Given the description of an element on the screen output the (x, y) to click on. 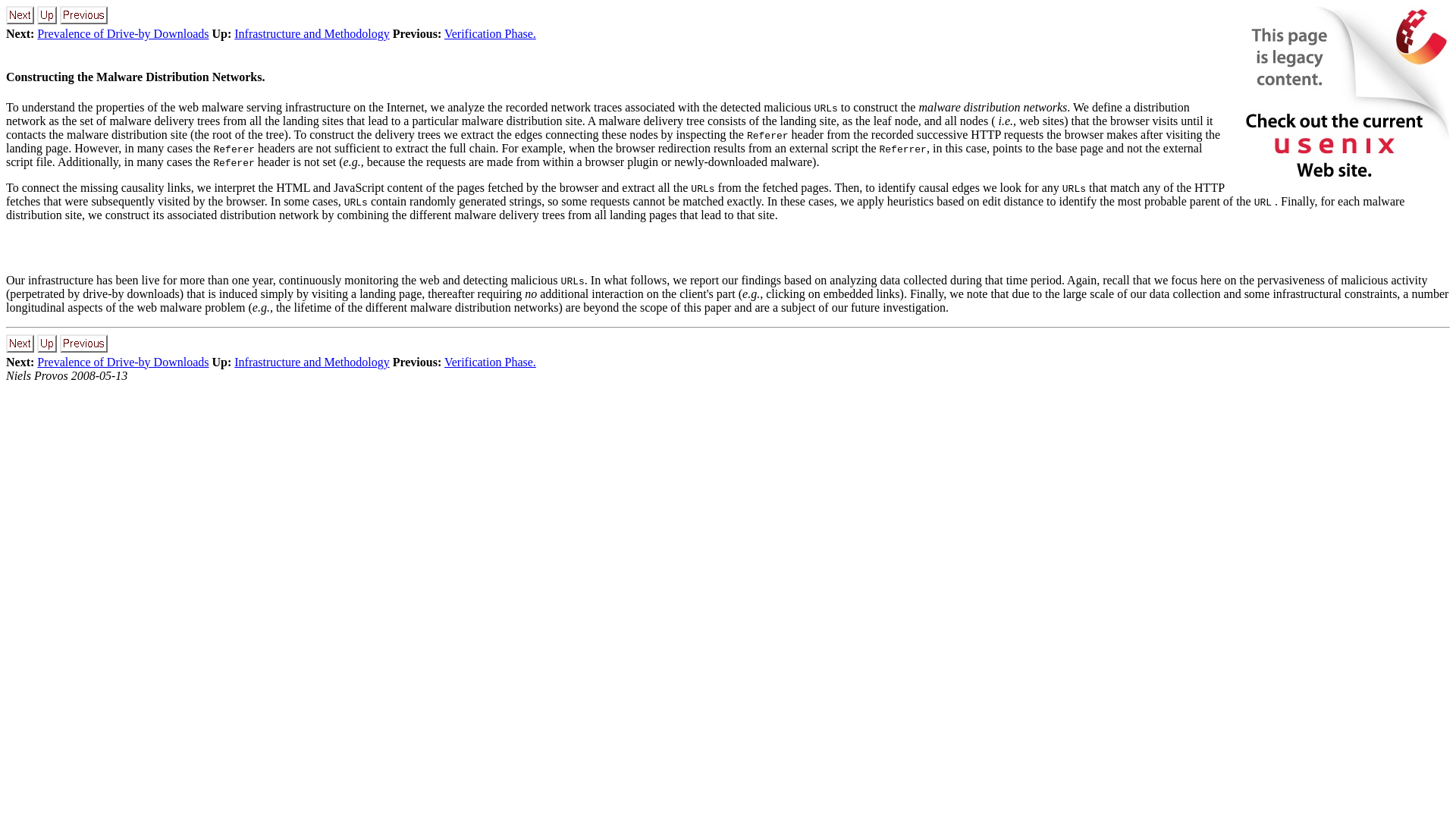
Infrastructure and Methodology (311, 361)
Constructing the Malware Distribution Networks. (134, 76)
Prevalence of Drive-by Downloads (122, 361)
Verification Phase. (489, 33)
Infrastructure and Methodology (311, 33)
Verification Phase. (489, 361)
Prevalence of Drive-by Downloads (122, 33)
